Given the description of an element on the screen output the (x, y) to click on. 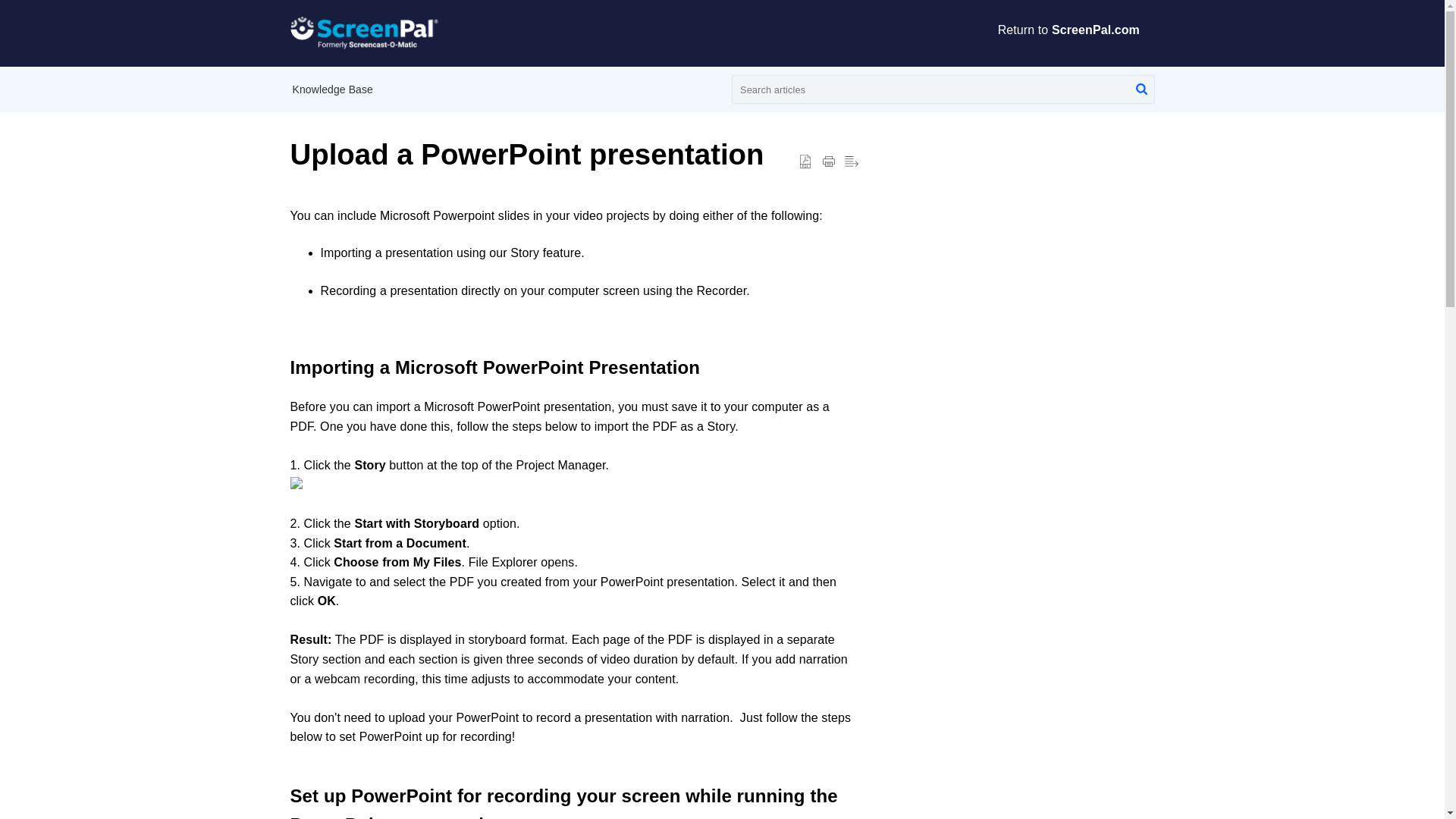
Return to ScreenPal.com (1075, 29)
Knowledge Base (332, 89)
